Given the description of an element on the screen output the (x, y) to click on. 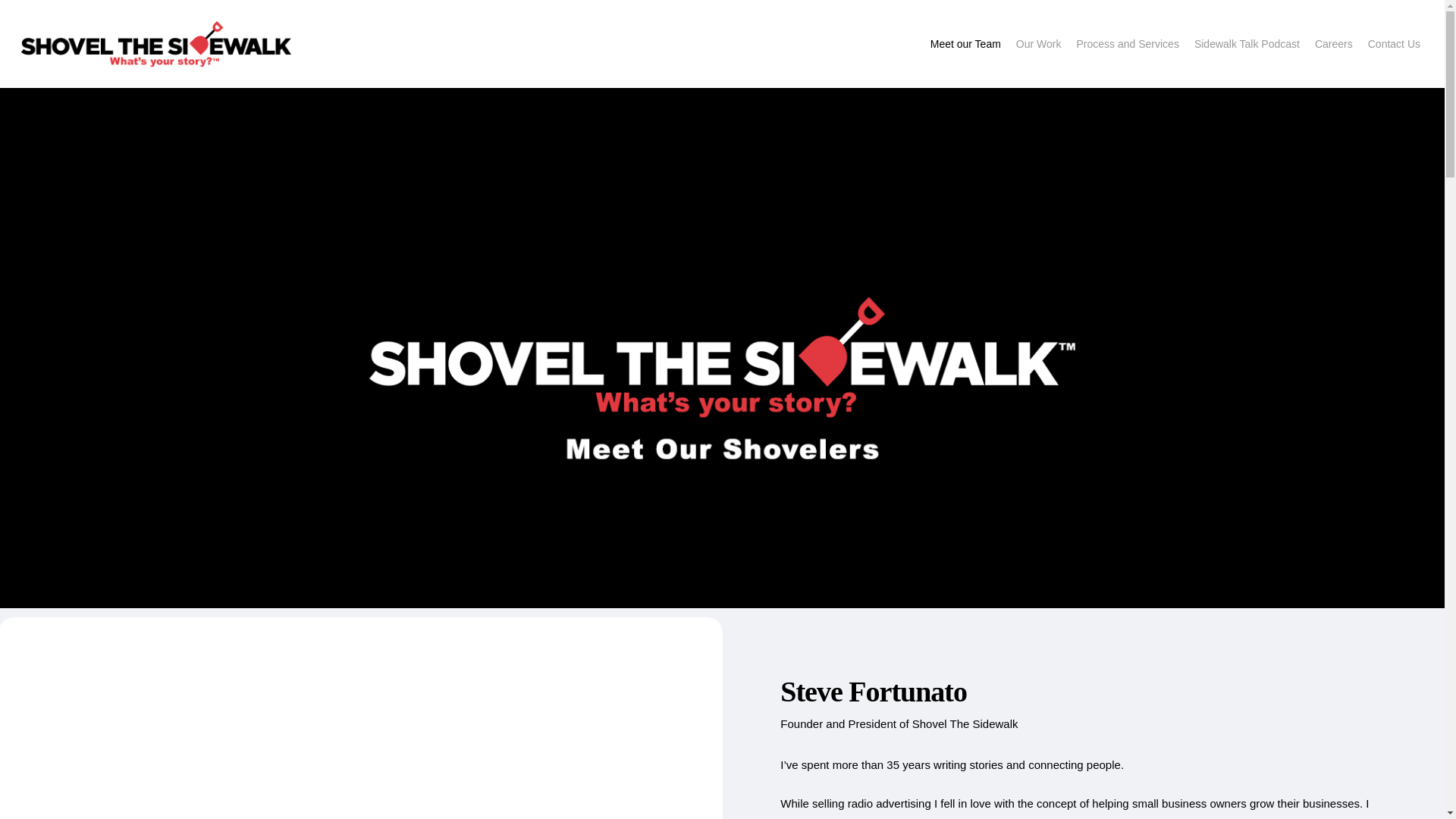
Meet our Team (966, 43)
Contact Us (1393, 43)
Shovel The Sidewalk - Meet Steve (359, 747)
Process and Services (1127, 43)
Sidewalk Talk Podcast (1246, 43)
Our Work (1038, 43)
Careers (1333, 43)
